Given the description of an element on the screen output the (x, y) to click on. 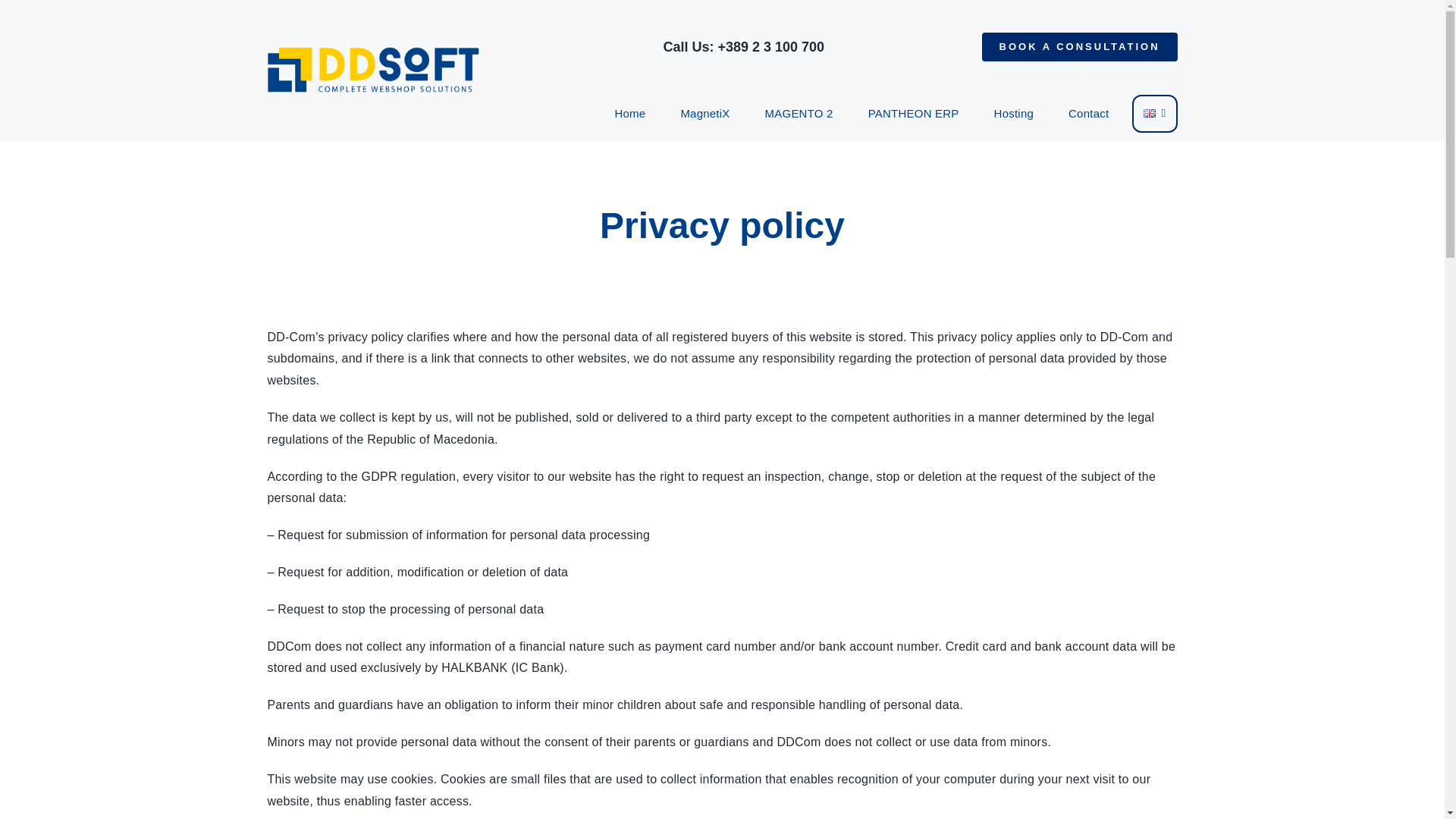
Home (629, 113)
BOOK A CONSULTATION (1079, 46)
Hosting (1013, 113)
MAGENTO 2 (799, 113)
MagnetiX (704, 113)
PANTHEON ERP (914, 113)
Contact (1088, 113)
